Given the description of an element on the screen output the (x, y) to click on. 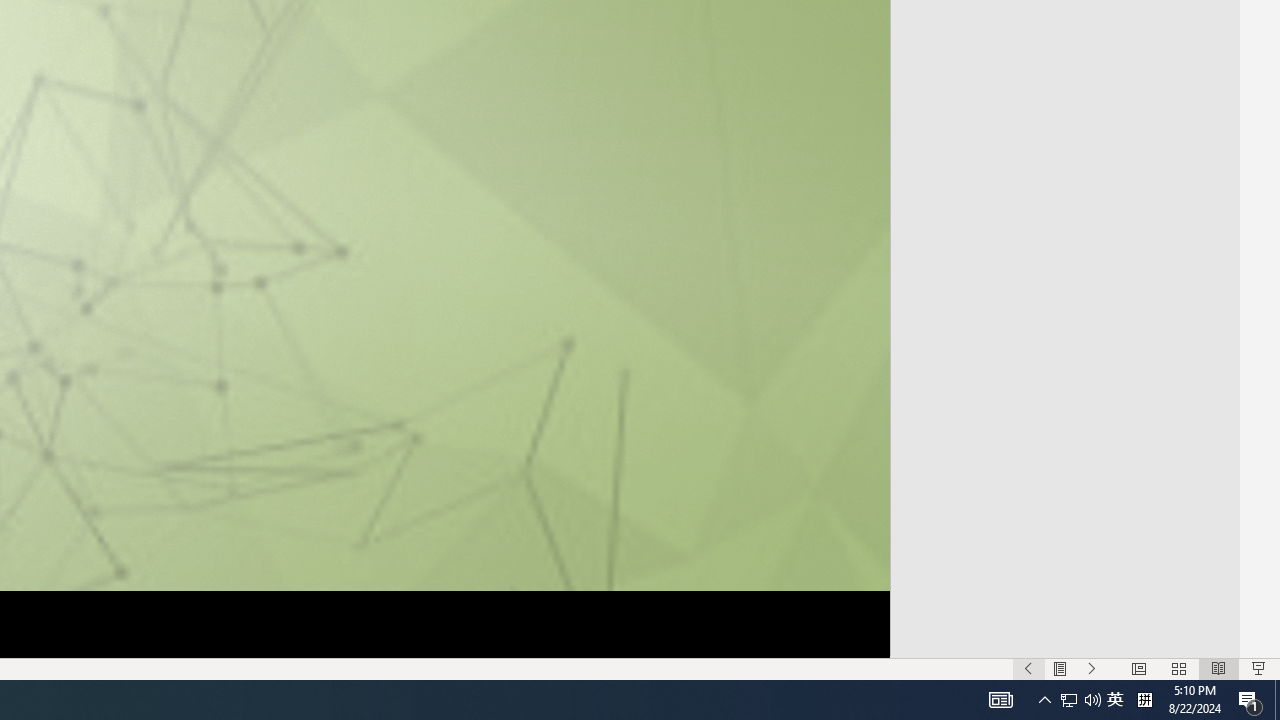
Slide Show Previous On (1028, 668)
Slide Show Next On (1092, 668)
Menu On (1060, 668)
